Given the description of an element on the screen output the (x, y) to click on. 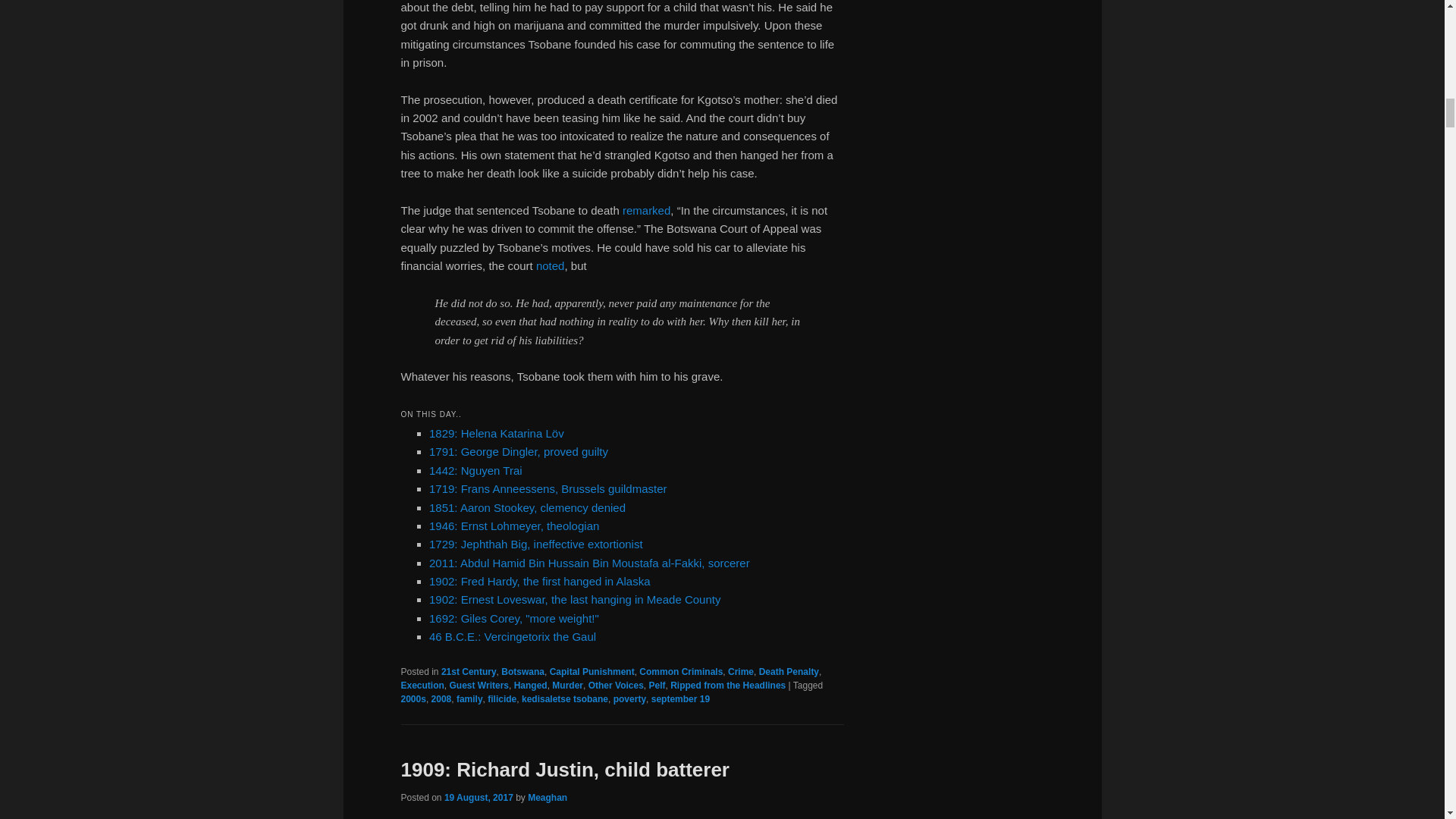
11:56 am (478, 797)
View all posts by Meaghan (547, 797)
